Given the description of an element on the screen output the (x, y) to click on. 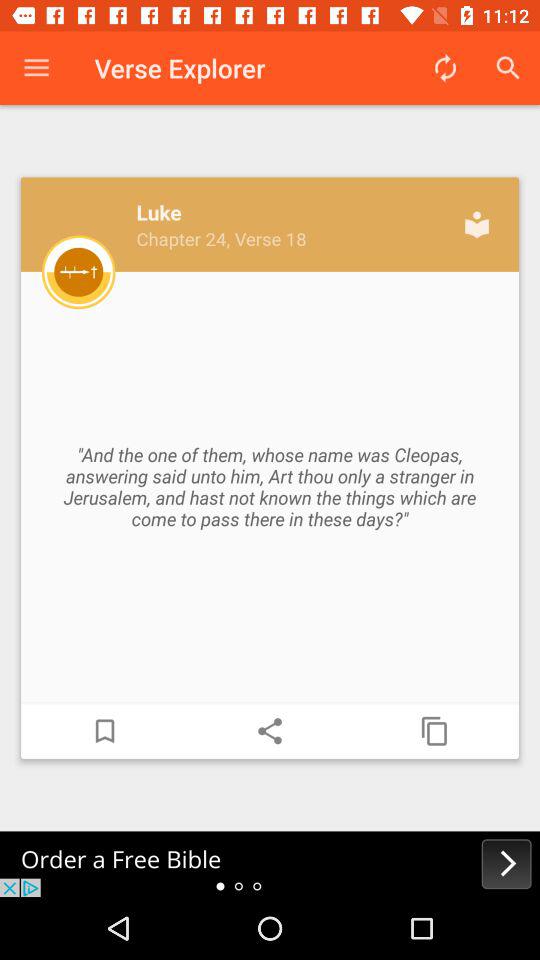
open advertisement (270, 864)
